Given the description of an element on the screen output the (x, y) to click on. 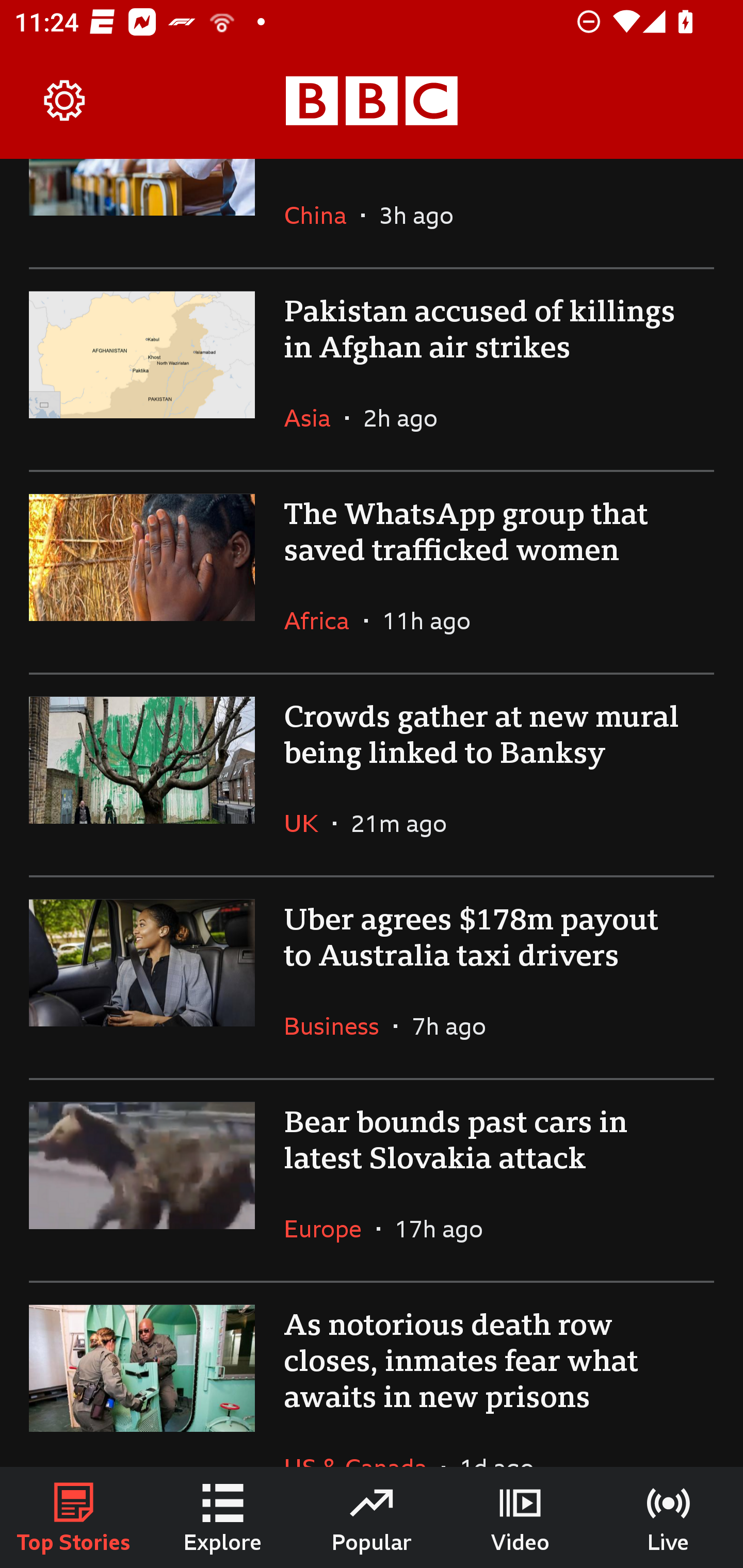
Settings (64, 100)
China In the section China (322, 214)
Asia In the section Asia (314, 417)
Africa In the section Africa (323, 619)
UK In the section UK (307, 822)
Business In the section Business (338, 1025)
Europe In the section Europe (329, 1228)
Explore (222, 1517)
Popular (371, 1517)
Video (519, 1517)
Live (668, 1517)
